Given the description of an element on the screen output the (x, y) to click on. 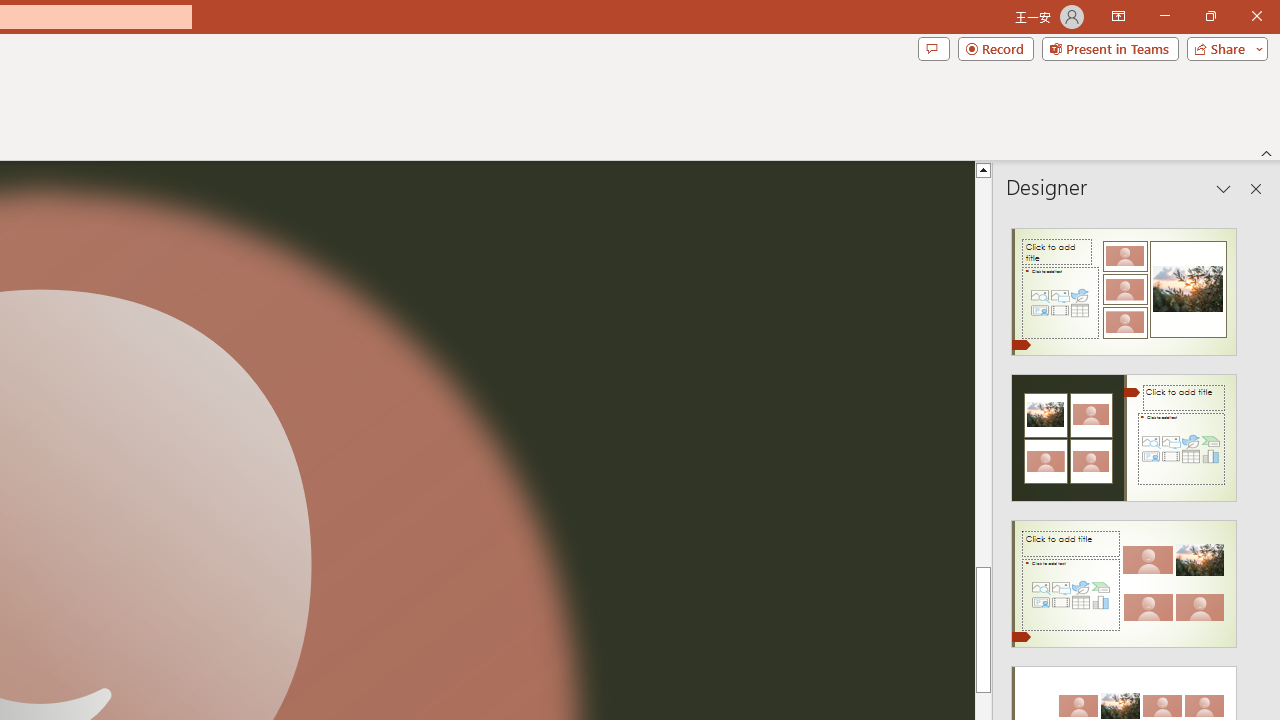
Line up (983, 169)
Close pane (1256, 188)
Task Pane Options (1224, 188)
Page up (983, 408)
Present in Teams (1109, 48)
Restore Down (1210, 16)
Ribbon Display Options (1118, 16)
Recommended Design: Design Idea (1124, 286)
Comments (933, 48)
Design Idea (1124, 577)
Class: NetUIImage (1124, 584)
Share (1223, 48)
Record (995, 48)
Minimize (1164, 16)
